Given the description of an element on the screen output the (x, y) to click on. 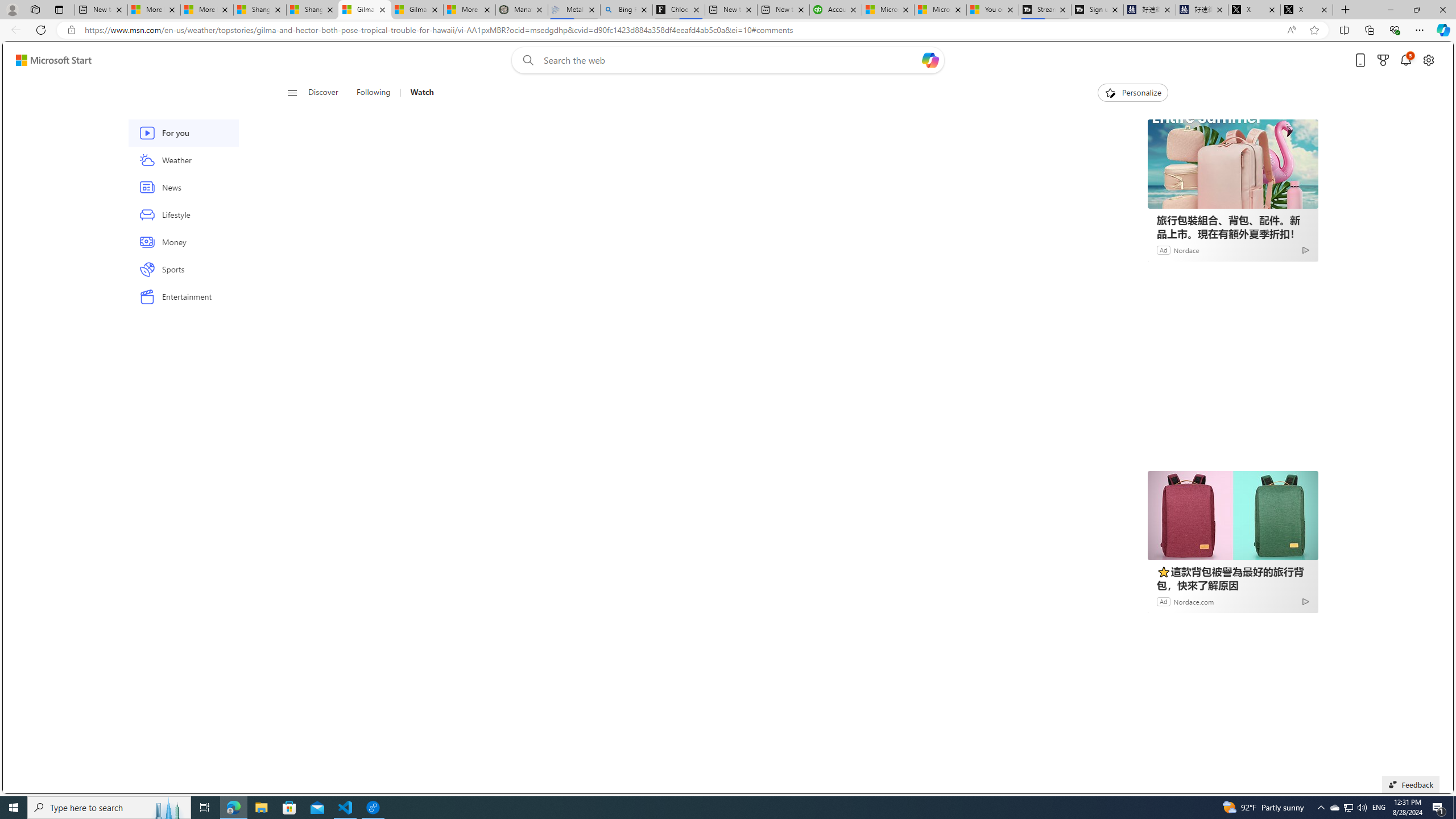
To get missing image descriptions, open the context menu. (1109, 92)
Web search (526, 60)
Watch (416, 92)
Open navigation menu (292, 92)
Shanghai, China weather forecast | Microsoft Weather (312, 9)
Watch (421, 92)
